Given the description of an element on the screen output the (x, y) to click on. 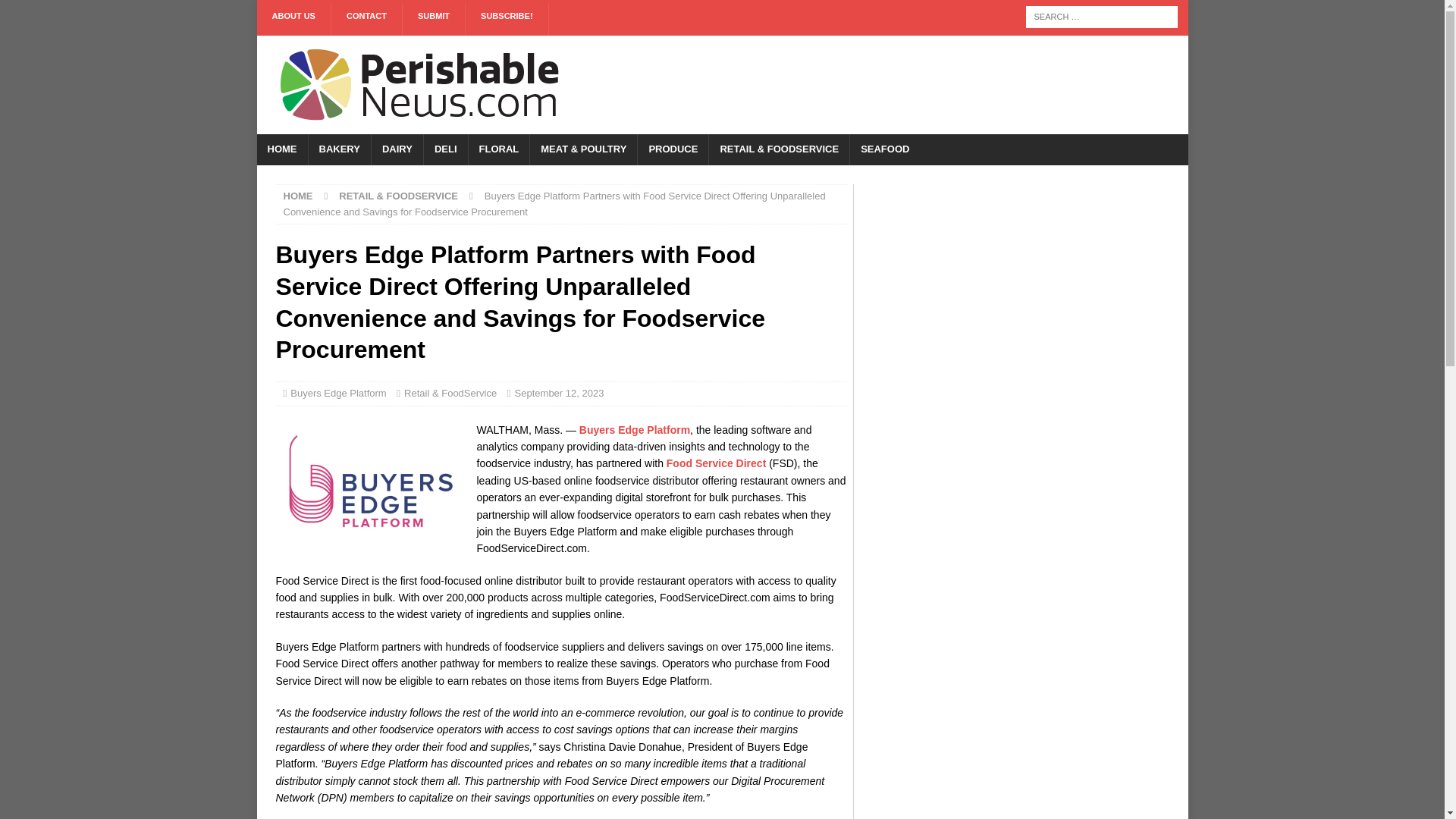
3rd party ad content (890, 84)
DAIRY (397, 149)
Buyers Edge Platform (337, 392)
September 12, 2023 (559, 392)
Food Service Direct (716, 463)
CONTACT (367, 19)
PRODUCE (672, 149)
HOME (281, 149)
FLORAL (498, 149)
Search (56, 11)
